Given the description of an element on the screen output the (x, y) to click on. 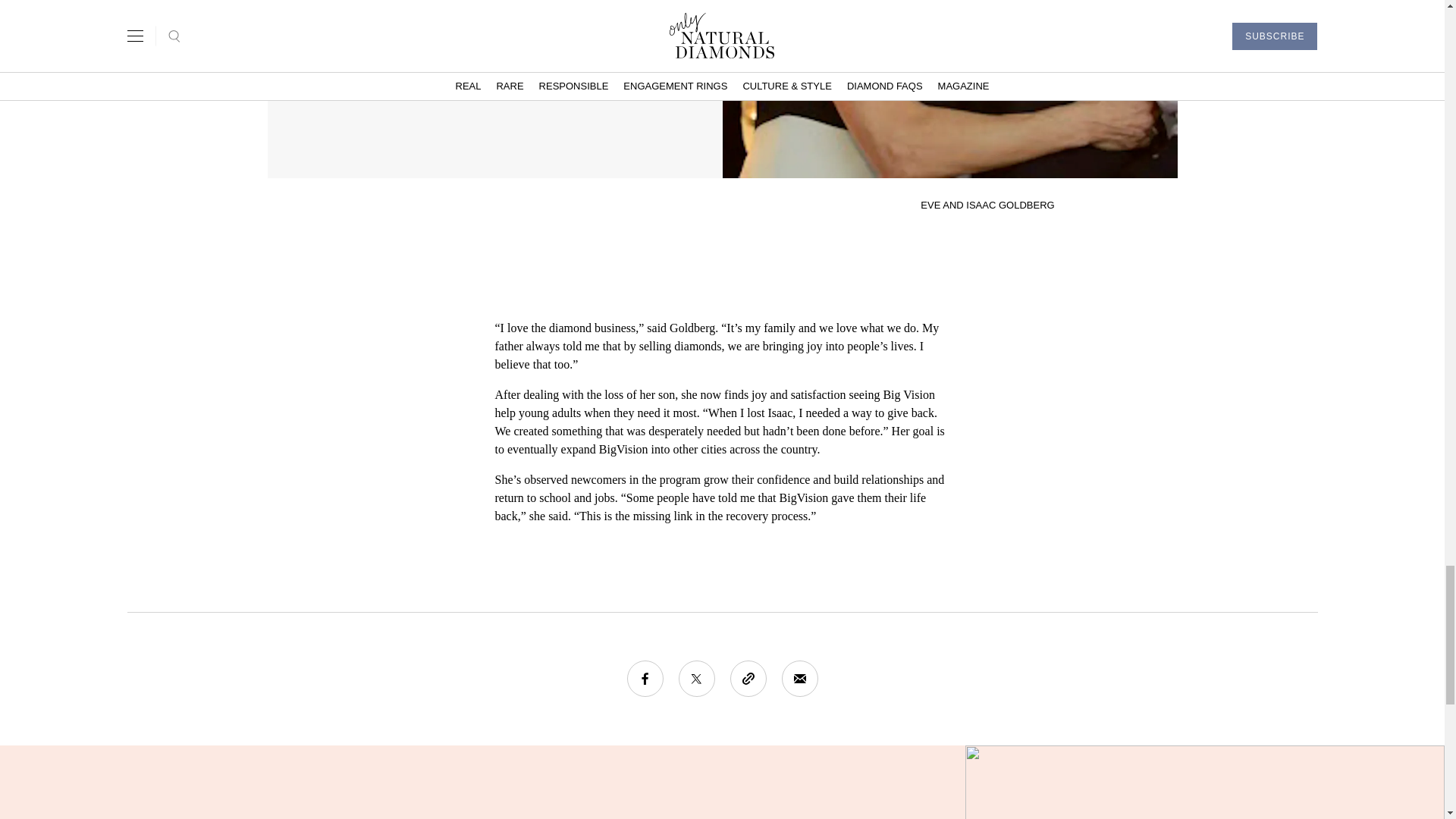
Tweet This (696, 678)
Share on Facebook (644, 678)
Clipboard (747, 678)
Email this page (798, 678)
